Given the description of an element on the screen output the (x, y) to click on. 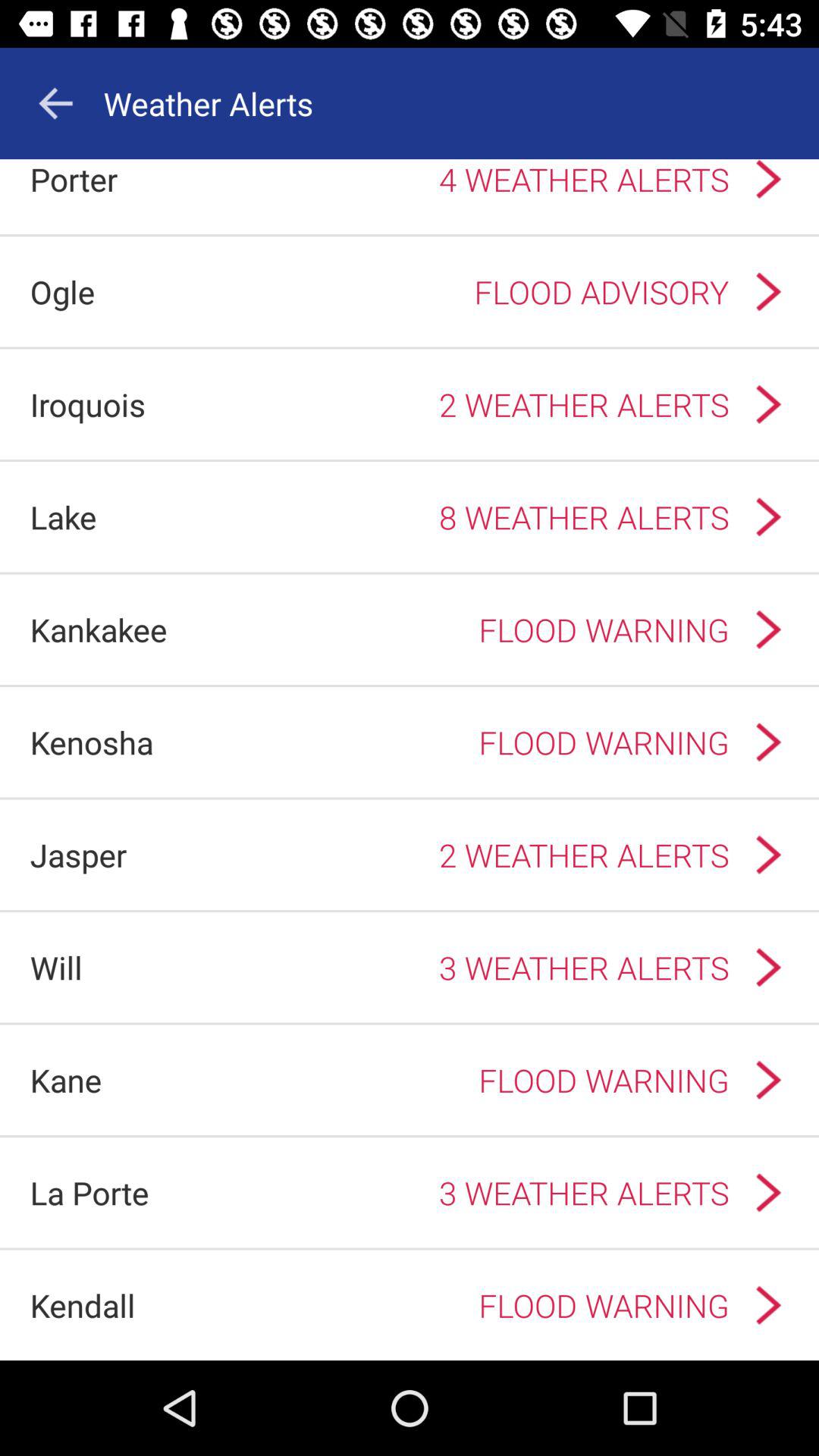
scroll to the iroquois app (87, 403)
